Given the description of an element on the screen output the (x, y) to click on. 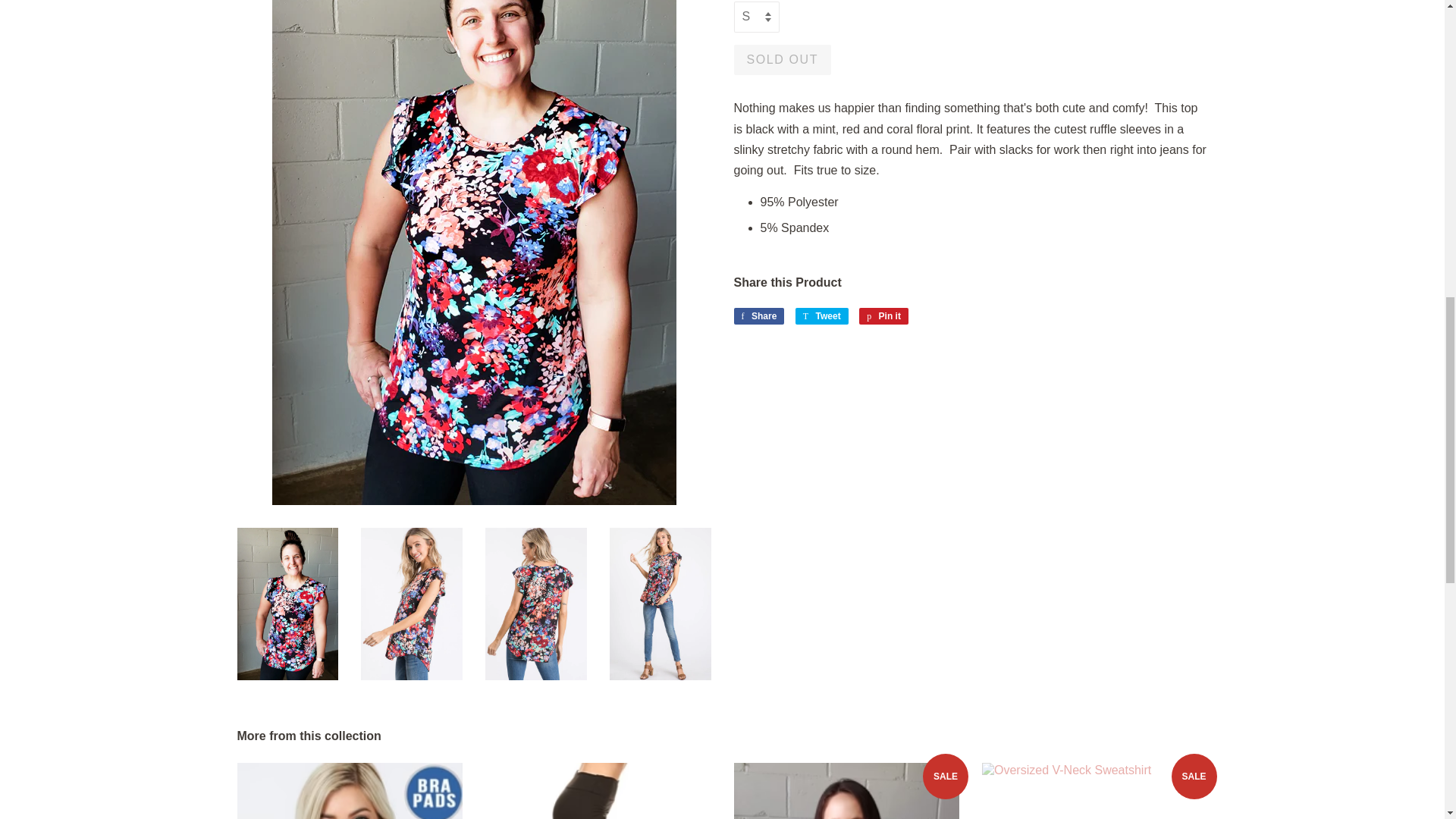
Pin on Pinterest (883, 315)
Share on Facebook (758, 315)
Tweet on Twitter (821, 315)
